Given the description of an element on the screen output the (x, y) to click on. 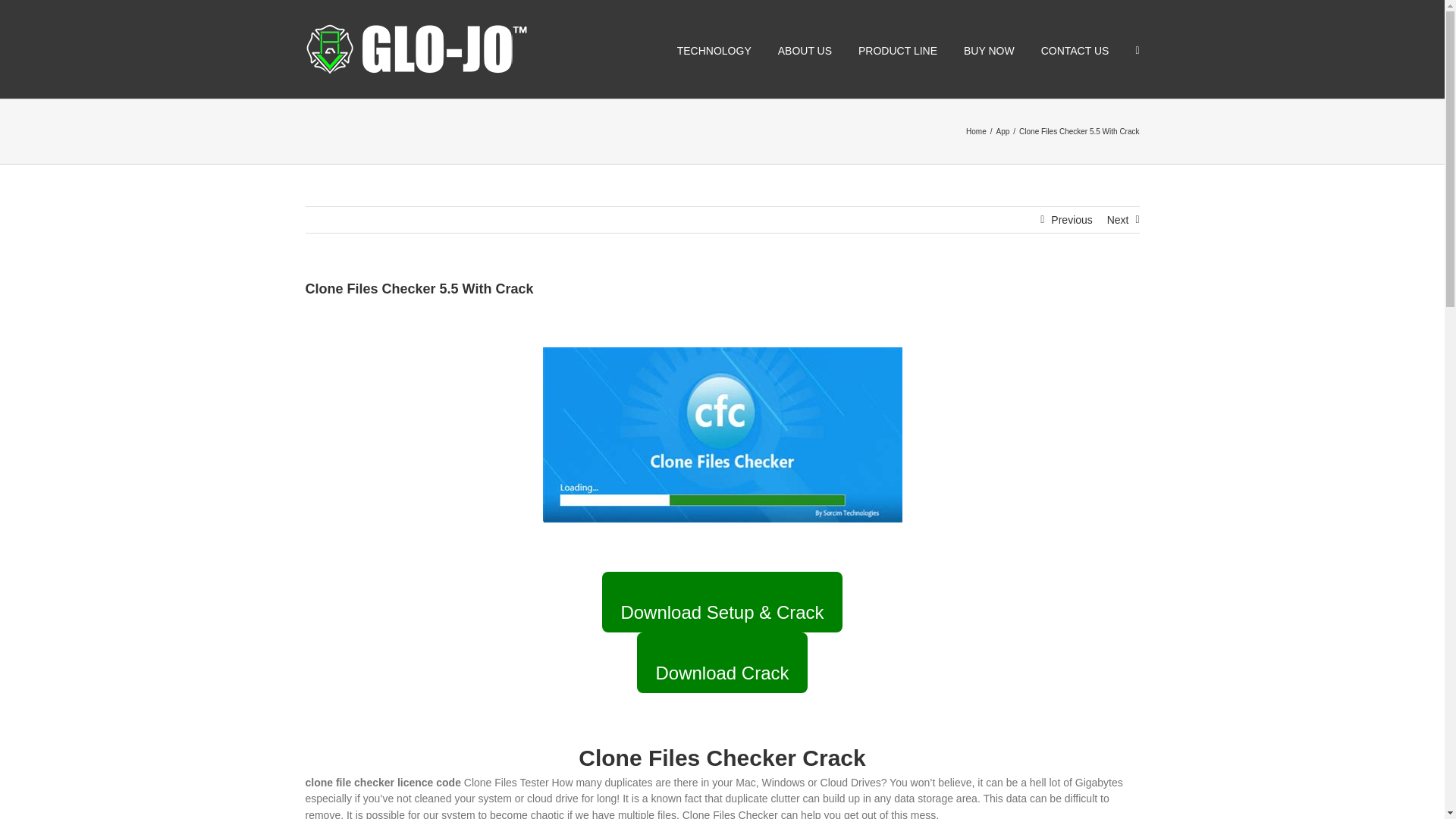
ABOUT US (804, 49)
BUY NOW (988, 49)
CONTACT US (1075, 49)
PRODUCT LINE (898, 49)
TECHNOLOGY (714, 49)
